Given the description of an element on the screen output the (x, y) to click on. 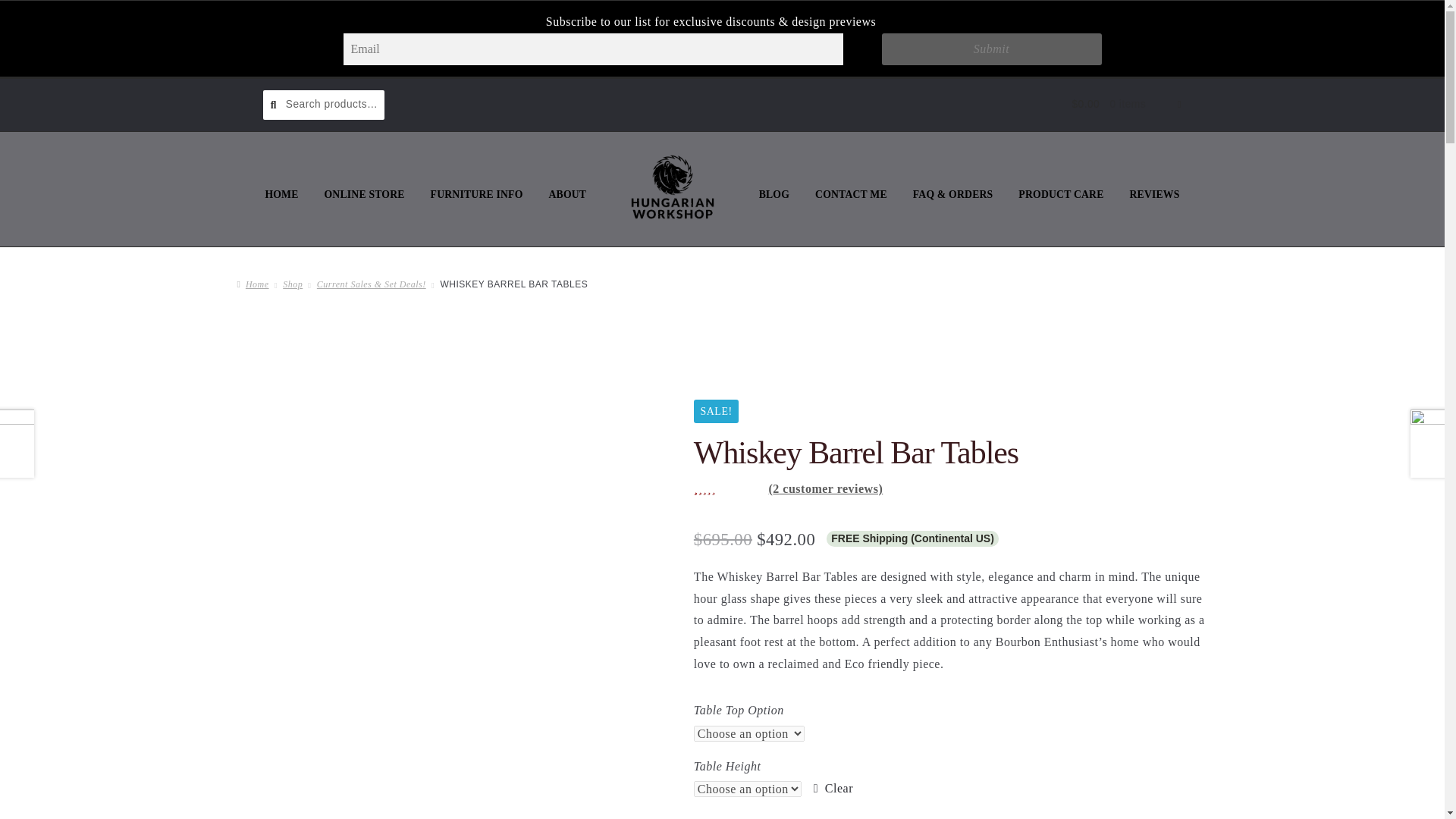
Home (251, 284)
CONTACT ME (850, 194)
PRODUCT CARE (1061, 194)
Shop (292, 284)
Clear (833, 789)
Submit (990, 49)
FURNITURE INFO (476, 194)
BLOG (774, 194)
